Given the description of an element on the screen output the (x, y) to click on. 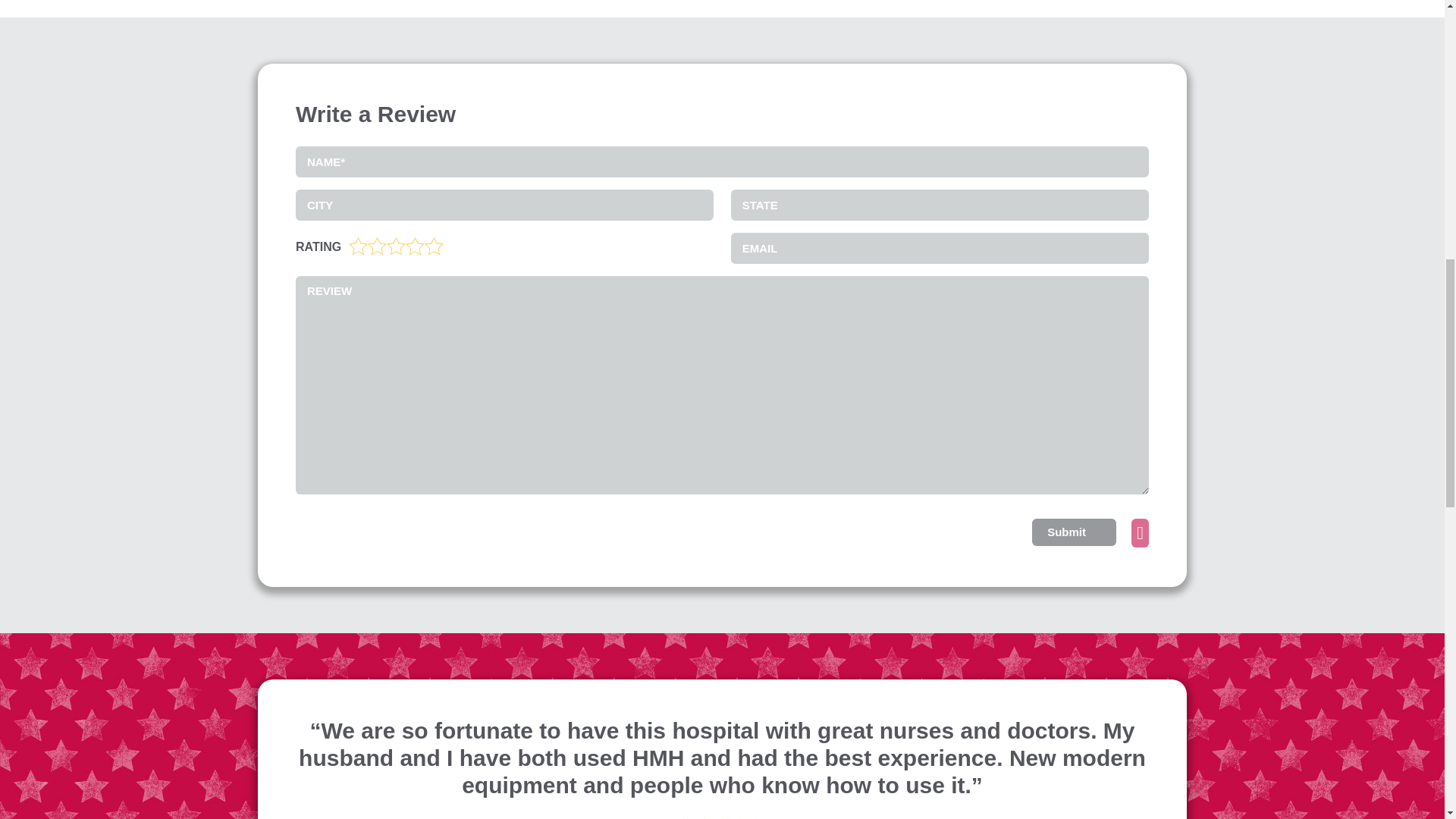
grating716663d10 (357, 243)
grating7028a1679 (357, 243)
2 - Not so great (377, 245)
grating795a777f3 (357, 243)
5 - Excellent (434, 245)
4 - Pretty good (415, 245)
grating769a0b389 (357, 243)
grating701f9f83e (357, 243)
1 - Terrible (358, 245)
3 - Neutral (396, 245)
